Given the description of an element on the screen output the (x, y) to click on. 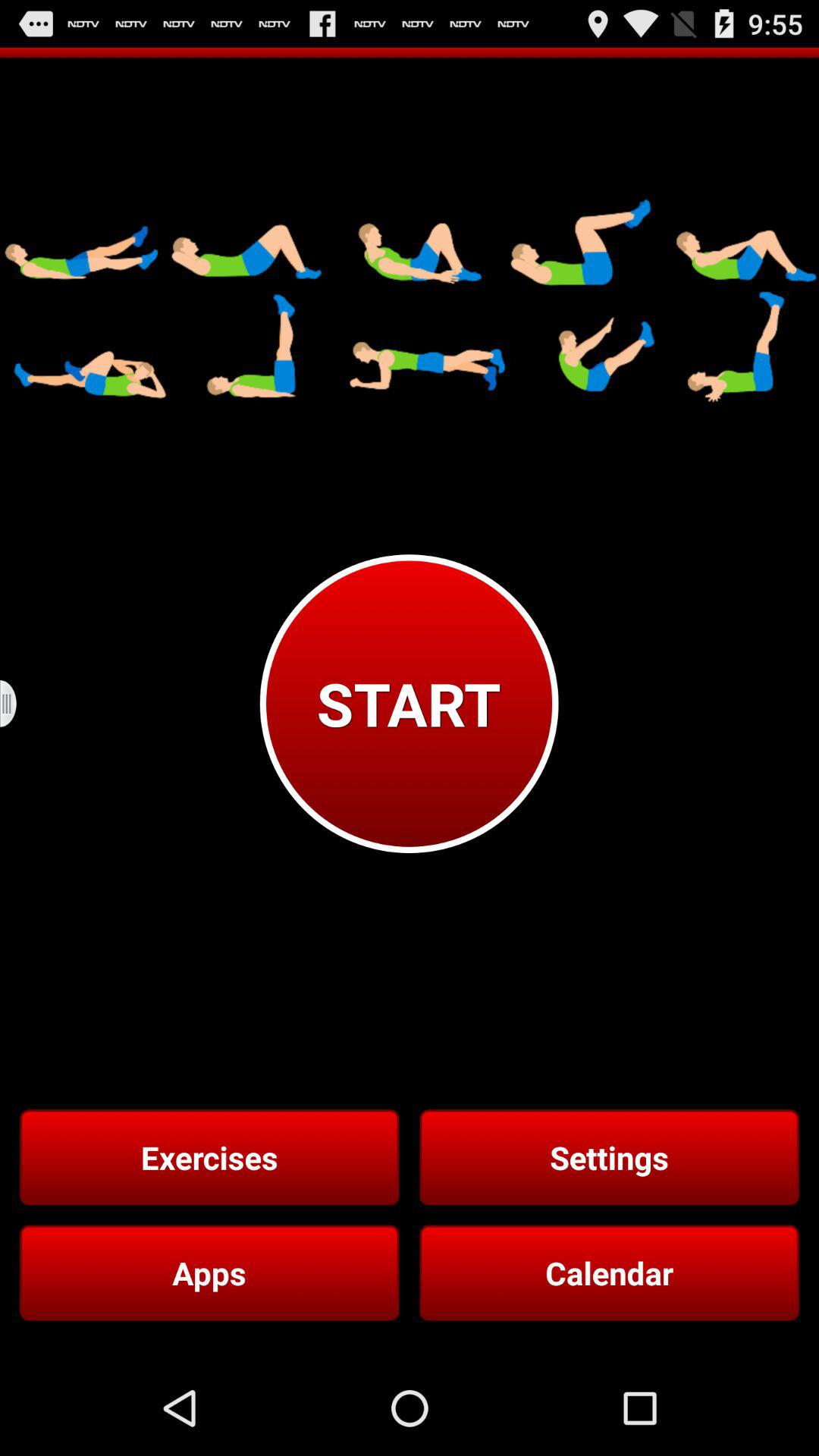
open item above the calendar item (609, 1157)
